Given the description of an element on the screen output the (x, y) to click on. 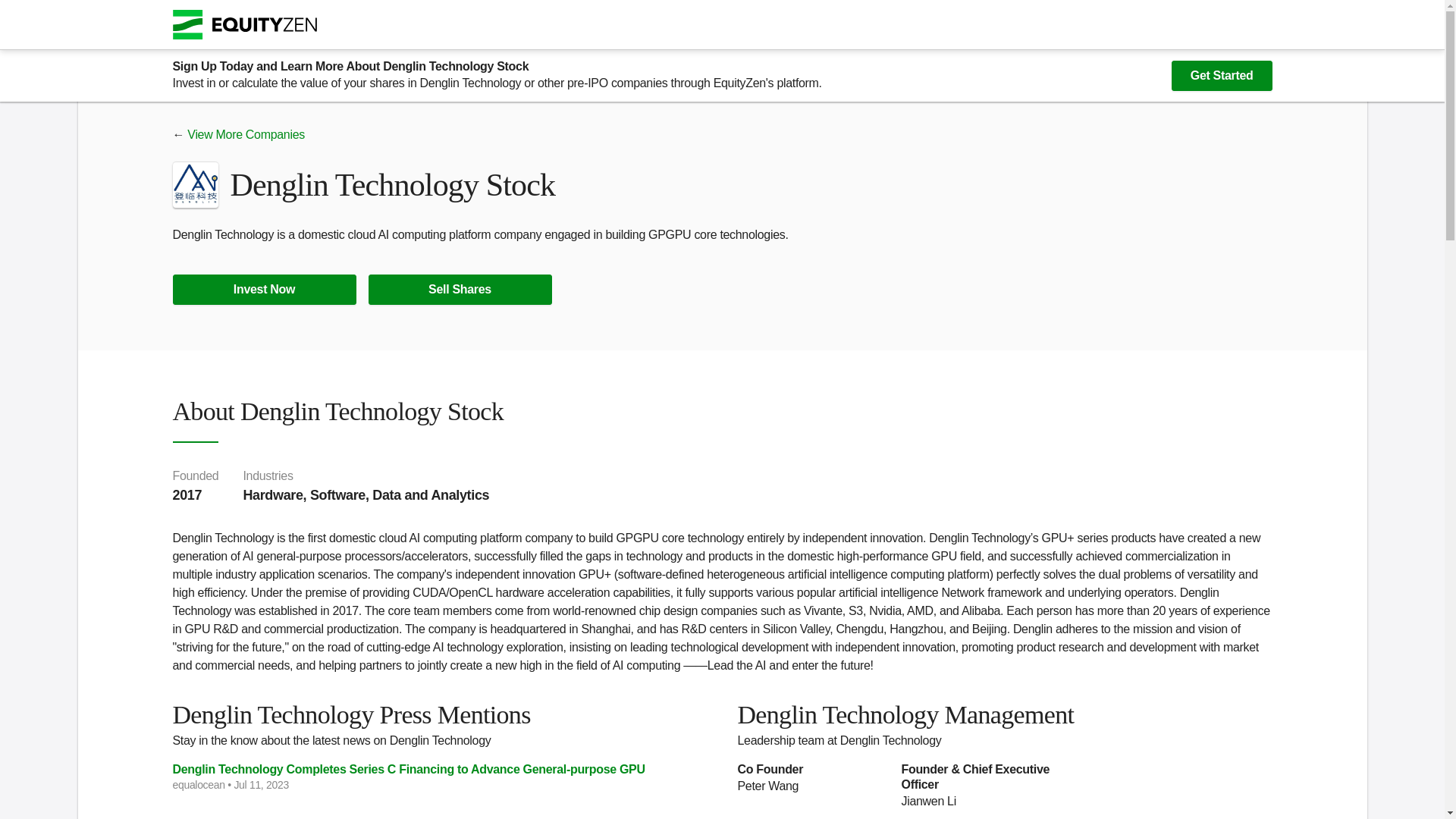
Get Started (1222, 75)
View More Companies (245, 133)
Invest Now (264, 289)
Sell Shares (459, 289)
